Given the description of an element on the screen output the (x, y) to click on. 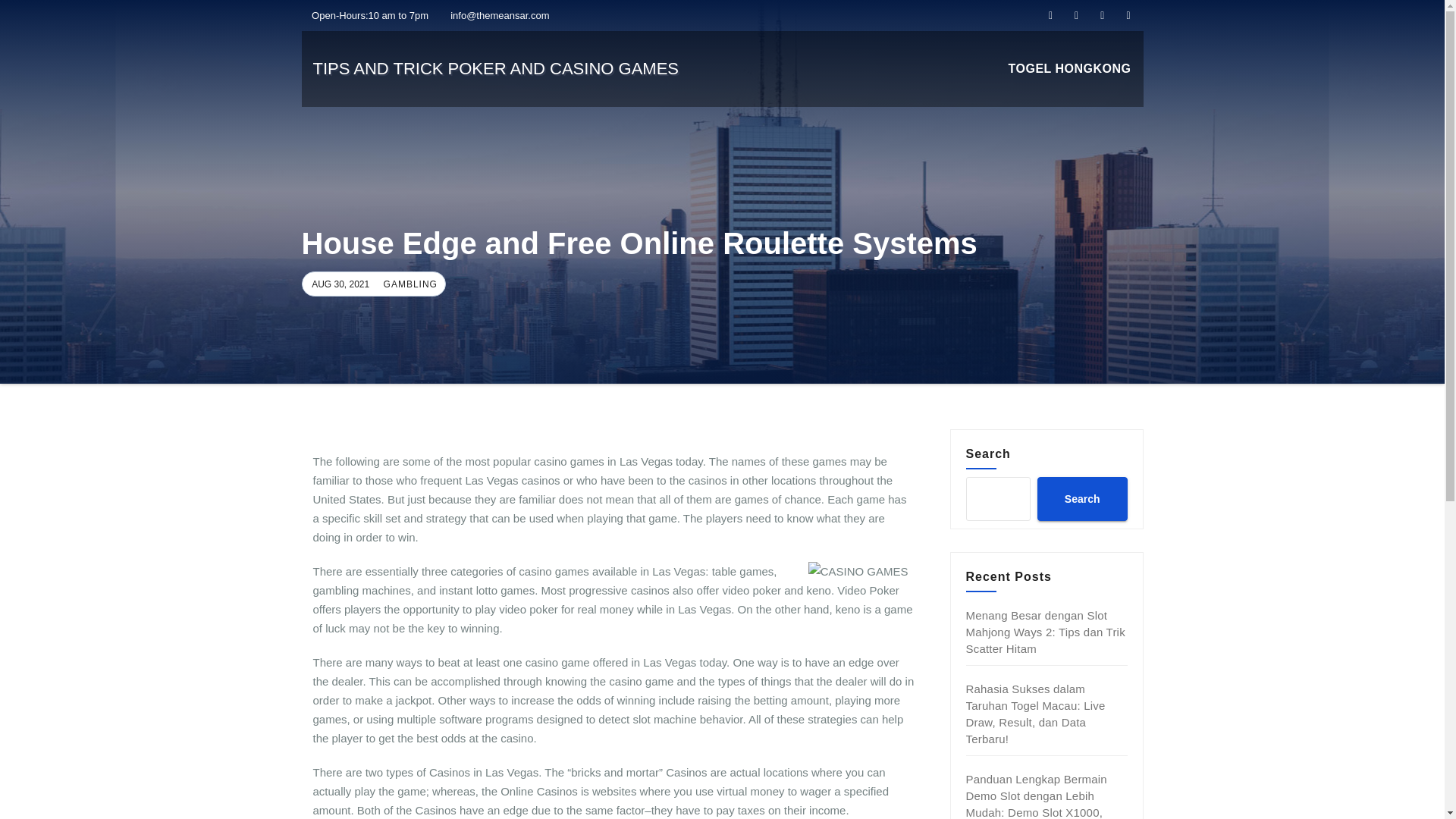
Search (1081, 498)
GAMBLING (409, 284)
Togel Hongkong (1068, 69)
Open-Hours:10 am to 7pm (365, 15)
TIPS AND TRICK POKER AND CASINO GAMES (495, 68)
TOGEL HONGKONG (1068, 69)
